Given the description of an element on the screen output the (x, y) to click on. 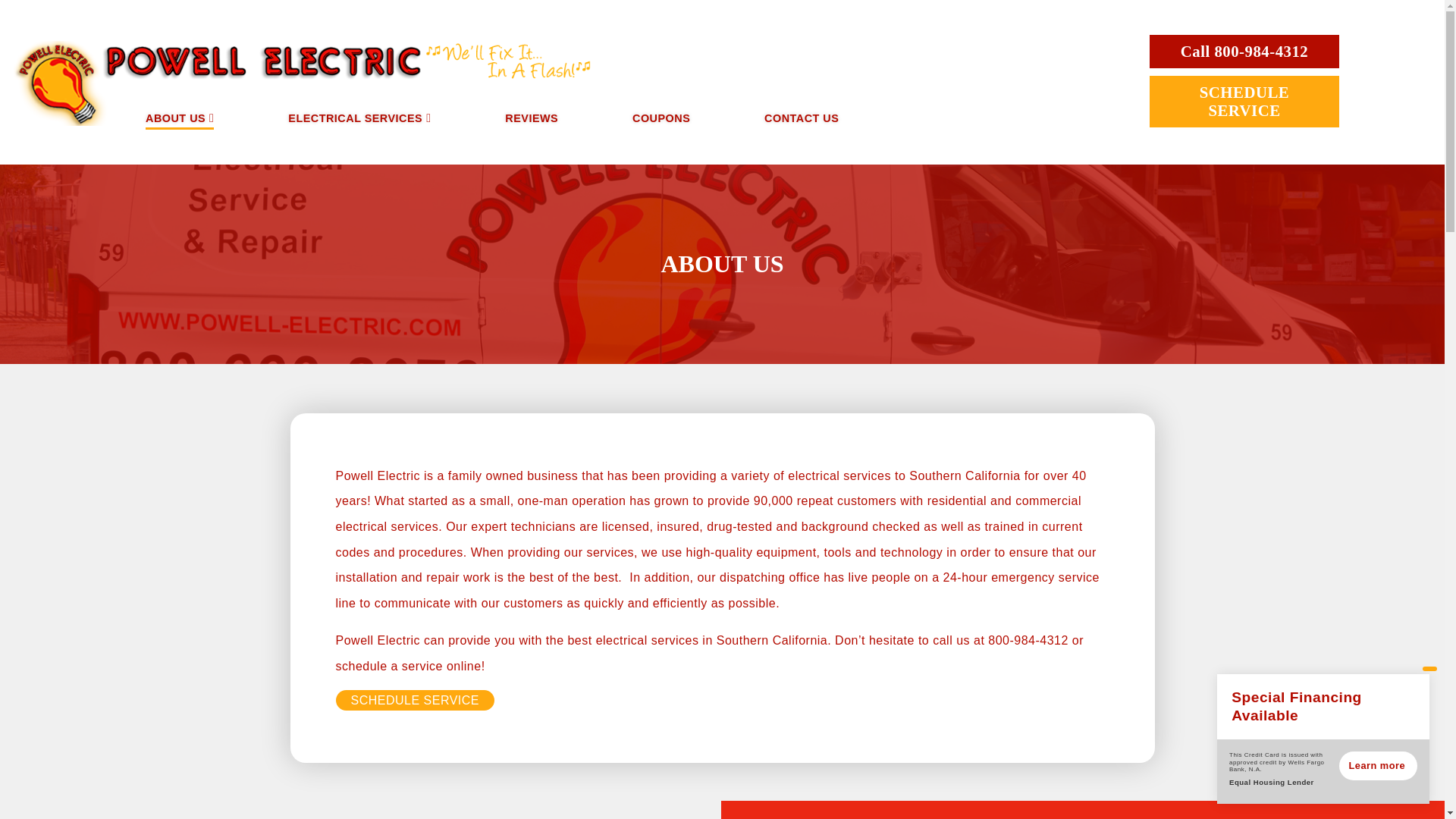
ELECTRICAL SERVICES (355, 118)
ABOUT US (175, 118)
